Given the description of an element on the screen output the (x, y) to click on. 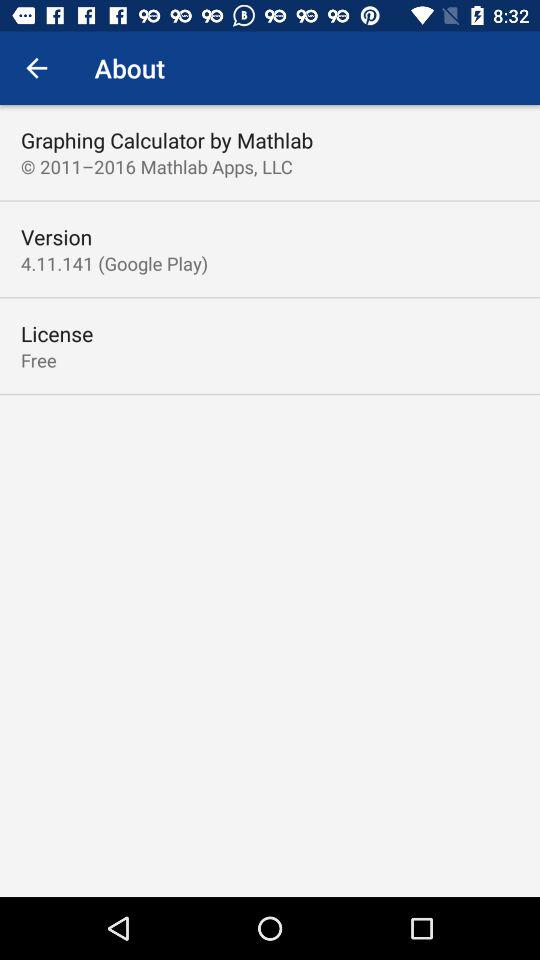
turn off the icon to the left of the about item (36, 68)
